Given the description of an element on the screen output the (x, y) to click on. 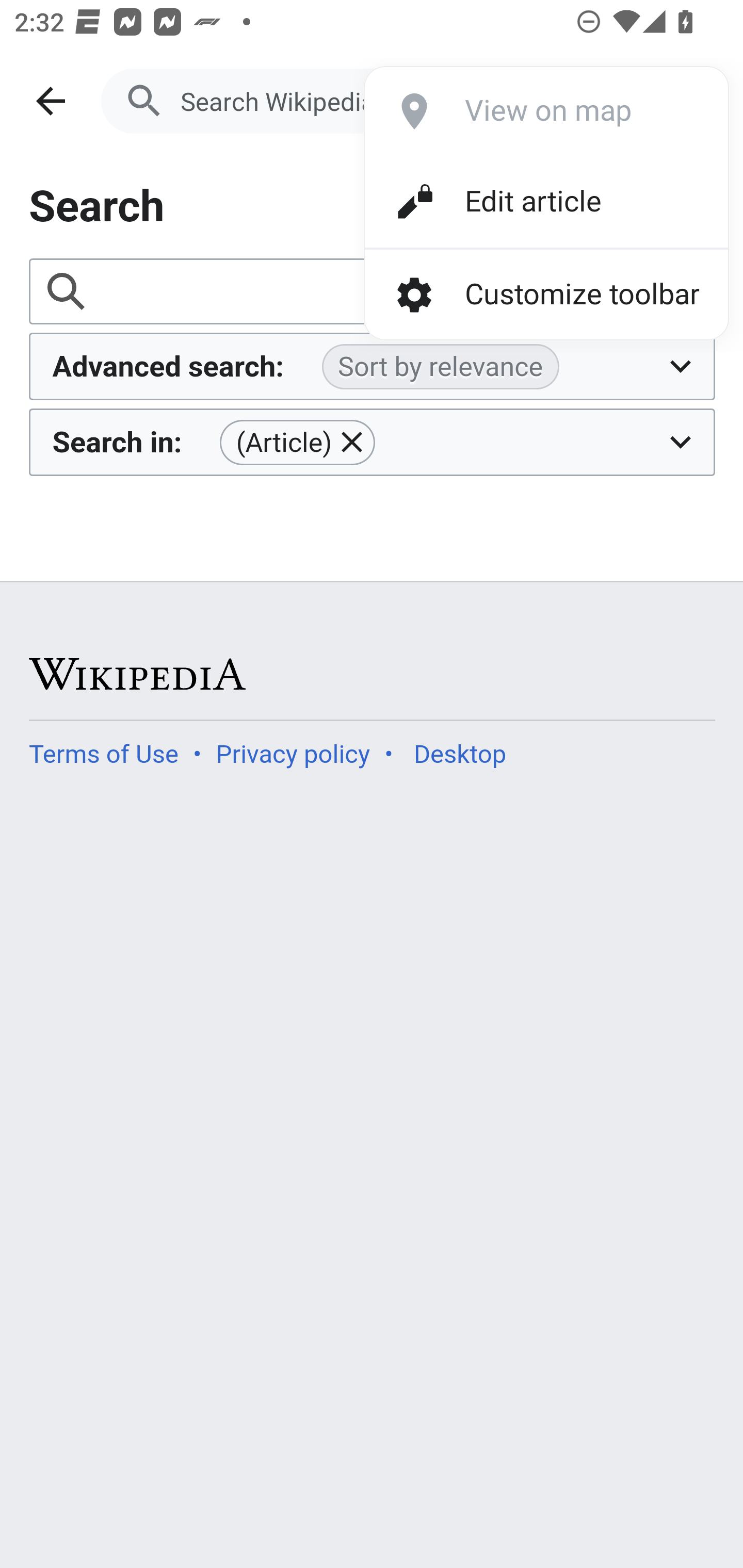
View on map (512, 110)
Edit article (512, 201)
Customize toolbar (546, 294)
